Given the description of an element on the screen output the (x, y) to click on. 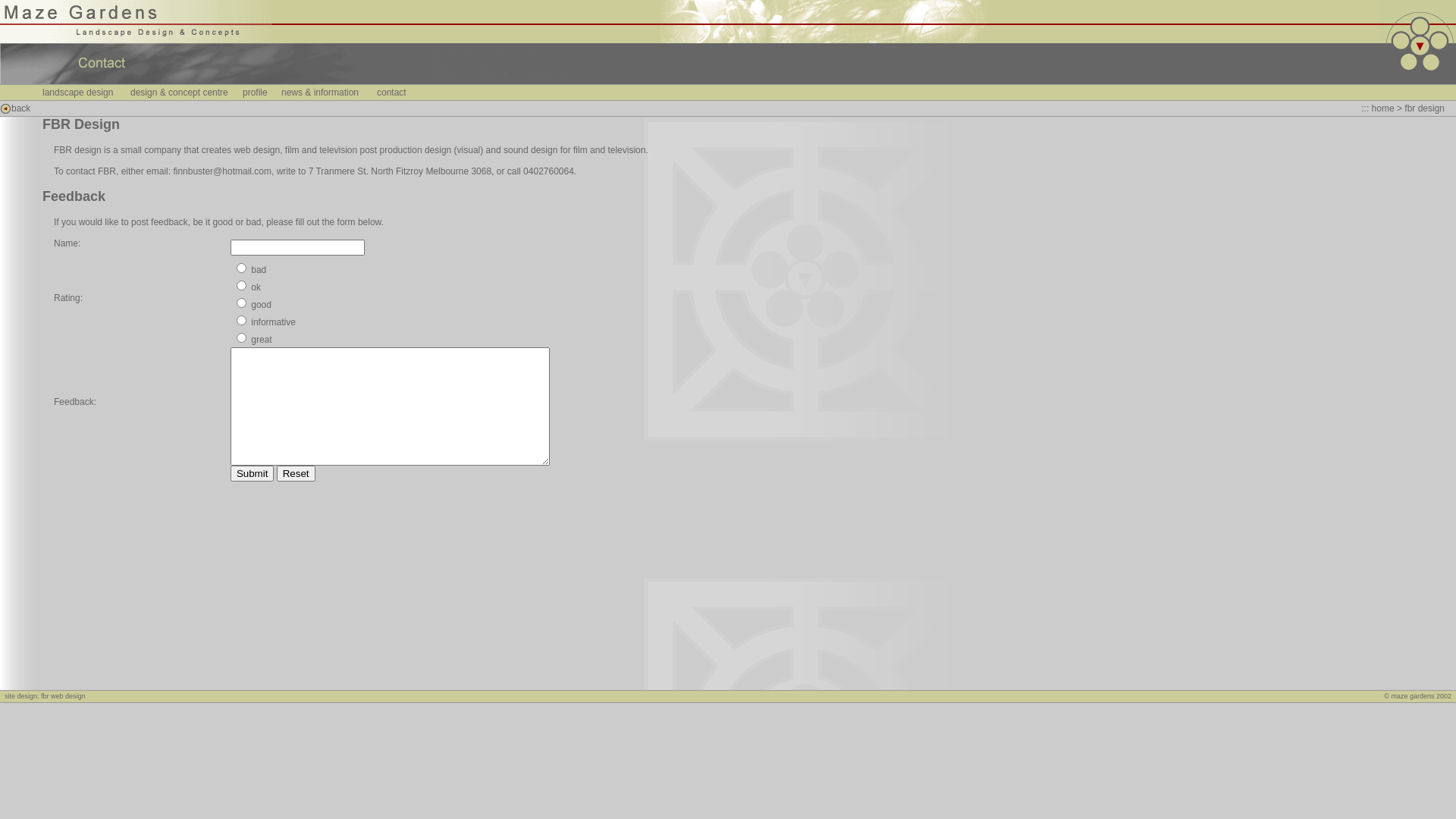
site design: fbr web design Element type: text (44, 695)
finnbuster@hotmail.com Element type: text (221, 171)
landscape design Element type: text (77, 92)
design & concept centre Element type: text (179, 92)
contact Element type: text (391, 92)
home Element type: text (1382, 108)
news & information Element type: text (319, 92)
Submit Element type: text (251, 473)
back Element type: text (20, 108)
profile Element type: text (254, 92)
